Given the description of an element on the screen output the (x, y) to click on. 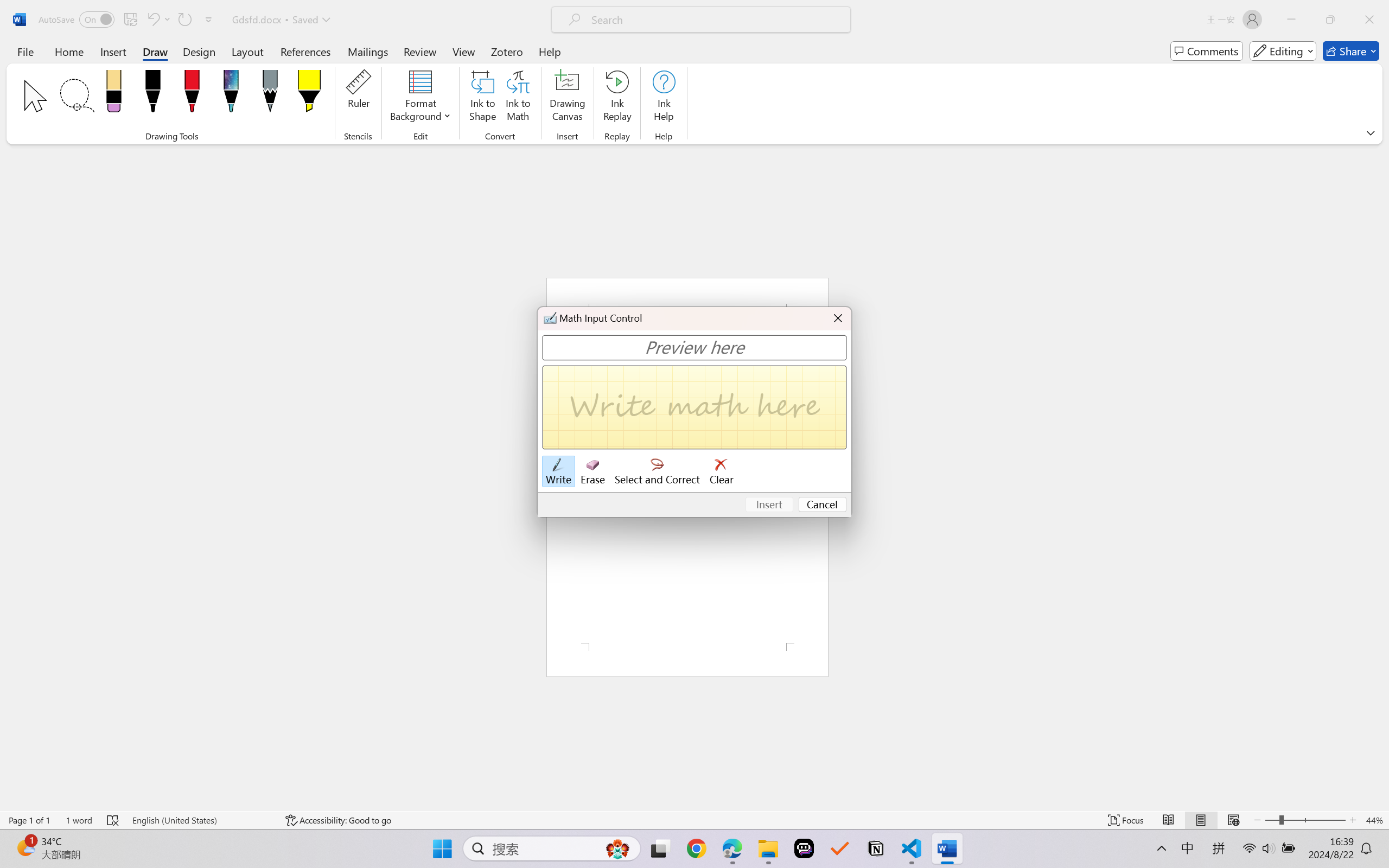
Poe (804, 848)
Google Chrome (696, 848)
